Given the description of an element on the screen output the (x, y) to click on. 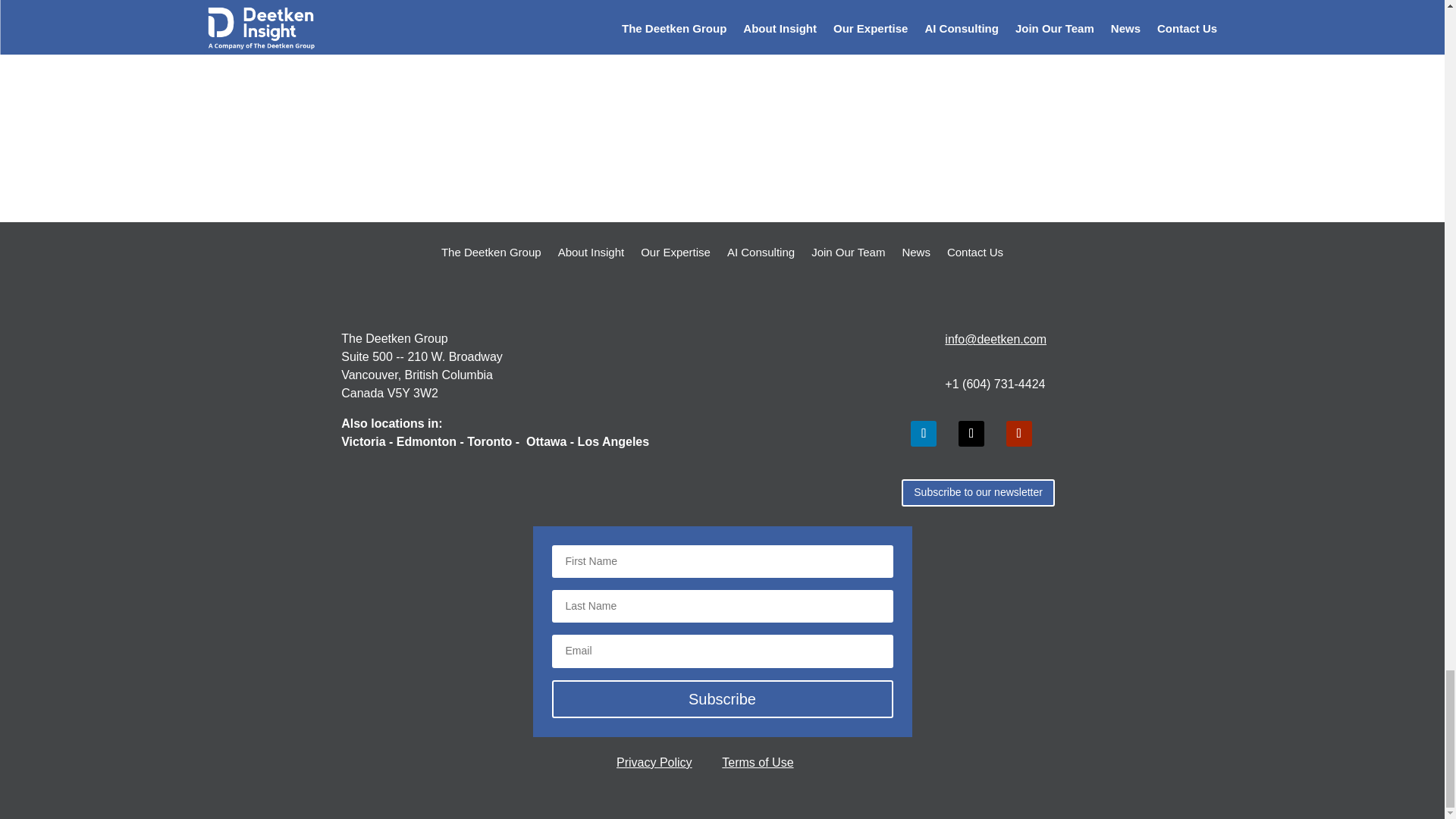
AI Consulting (760, 263)
About Insight (590, 263)
Subscribe to our newsletter (977, 492)
The Deetken Group (491, 263)
Follow on Youtube (1019, 433)
Follow on LinkedIn (923, 433)
Join Our Team (847, 263)
Privacy Policy (654, 762)
Follow on X (971, 433)
Subscribe (722, 699)
